Given the description of an element on the screen output the (x, y) to click on. 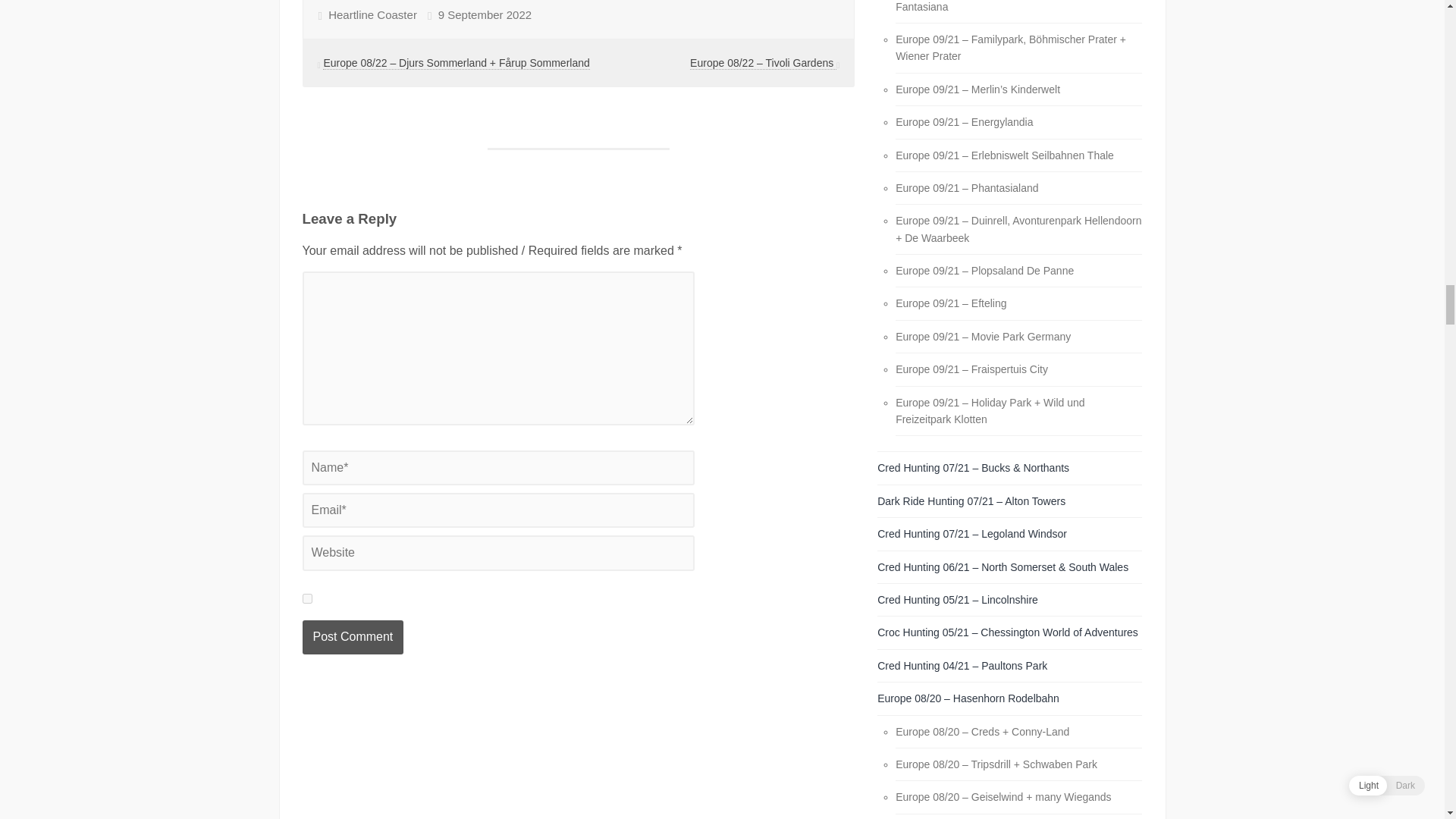
yes (306, 598)
Post Comment (352, 636)
Post Comment (352, 636)
